Given the description of an element on the screen output the (x, y) to click on. 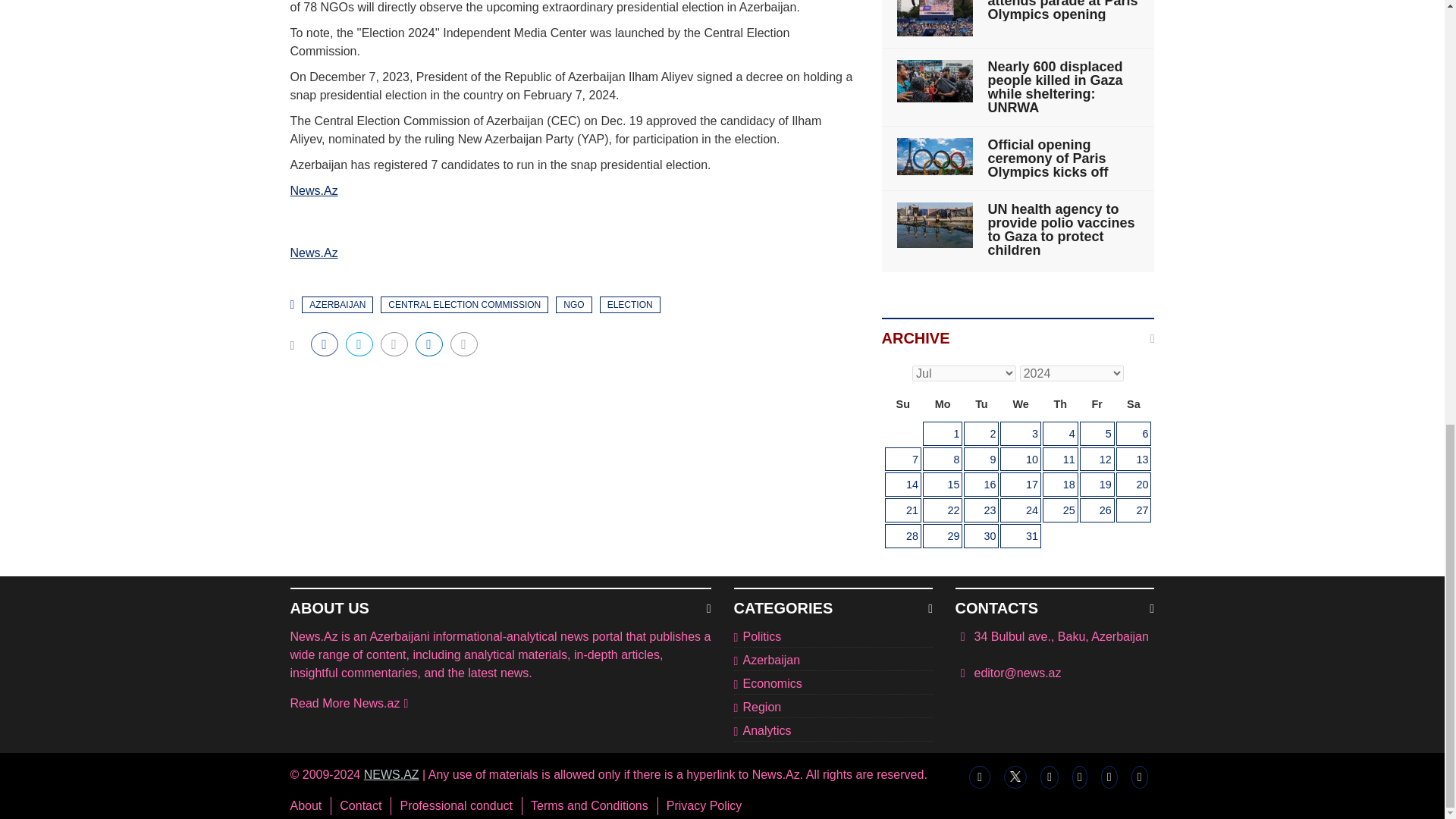
Share news on Facebook (324, 344)
ELECTION (630, 304)
NGO (573, 304)
Share news on Twitter (359, 344)
News.Az (313, 252)
AZERBAIJAN (336, 304)
CENTRAL ELECTION COMMISSION (464, 304)
News.Az (313, 190)
